Given the description of an element on the screen output the (x, y) to click on. 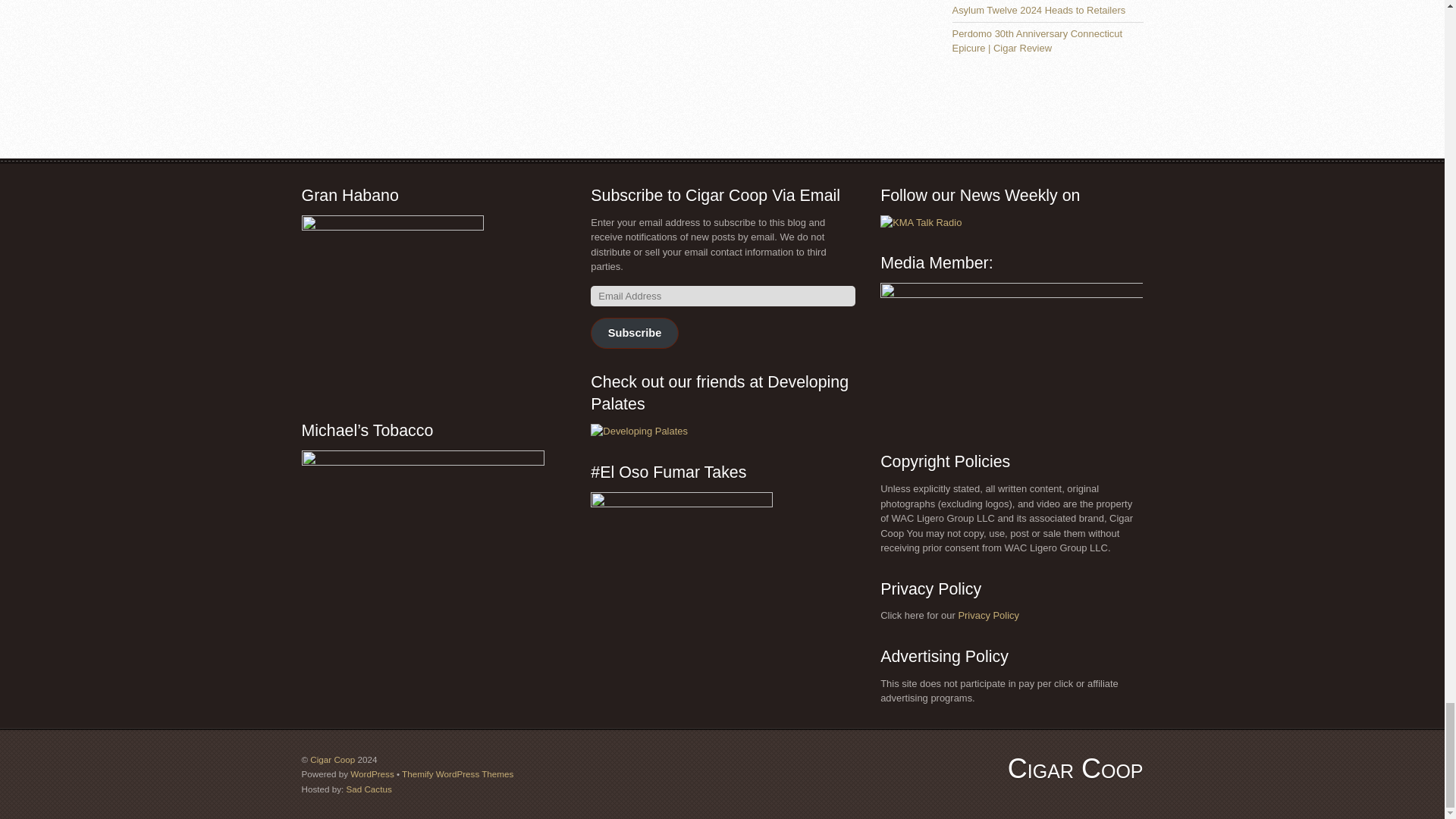
Cigar Coop (1074, 767)
